Given the description of an element on the screen output the (x, y) to click on. 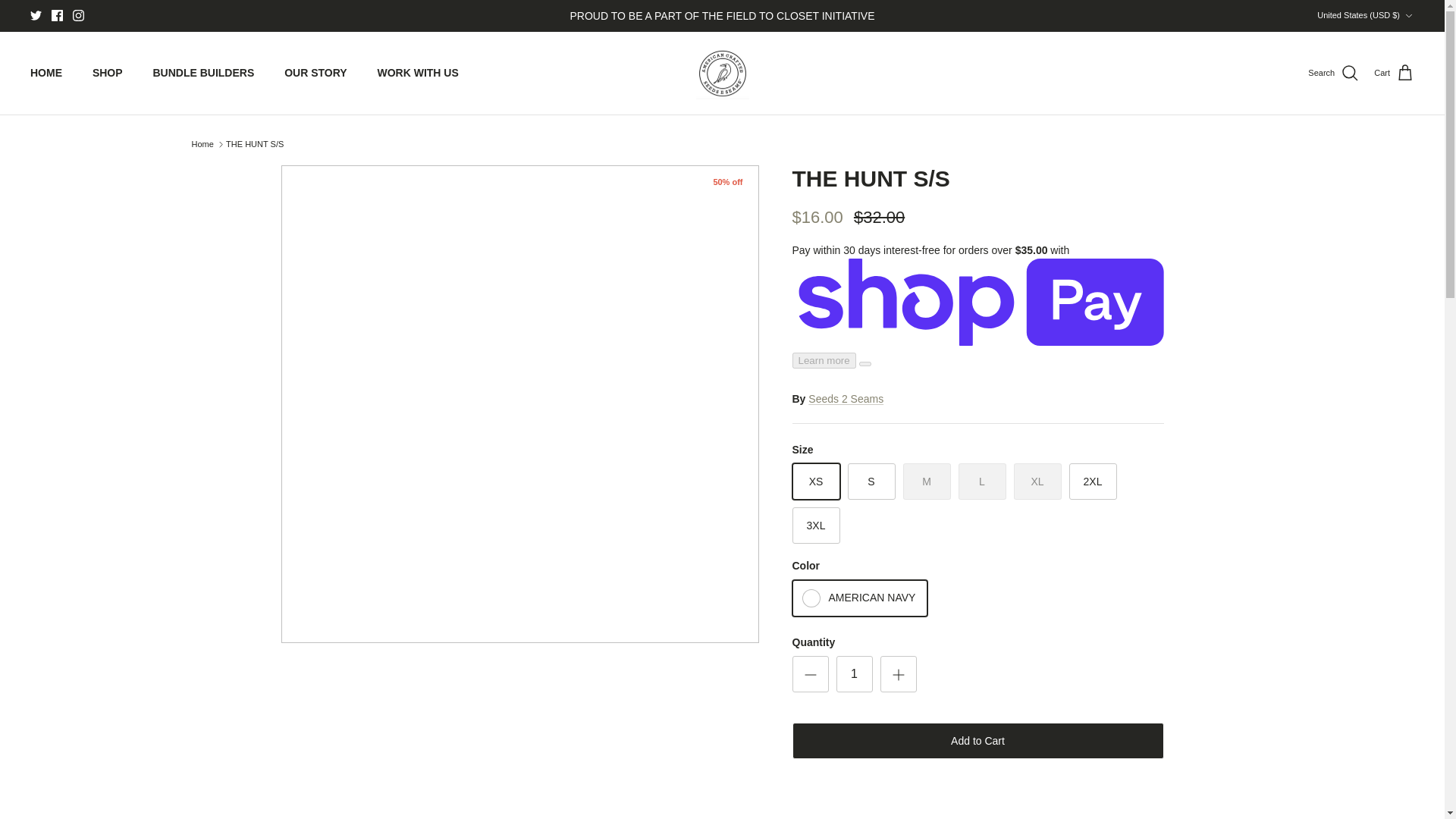
Cart (1393, 73)
1 (853, 674)
Seeds 2 Seams (722, 72)
Down (1408, 15)
Facebook (56, 15)
Instagram (78, 15)
Instagram (78, 15)
Minus (809, 674)
BUNDLE BUILDERS (202, 72)
Facebook (56, 15)
